Given the description of an element on the screen output the (x, y) to click on. 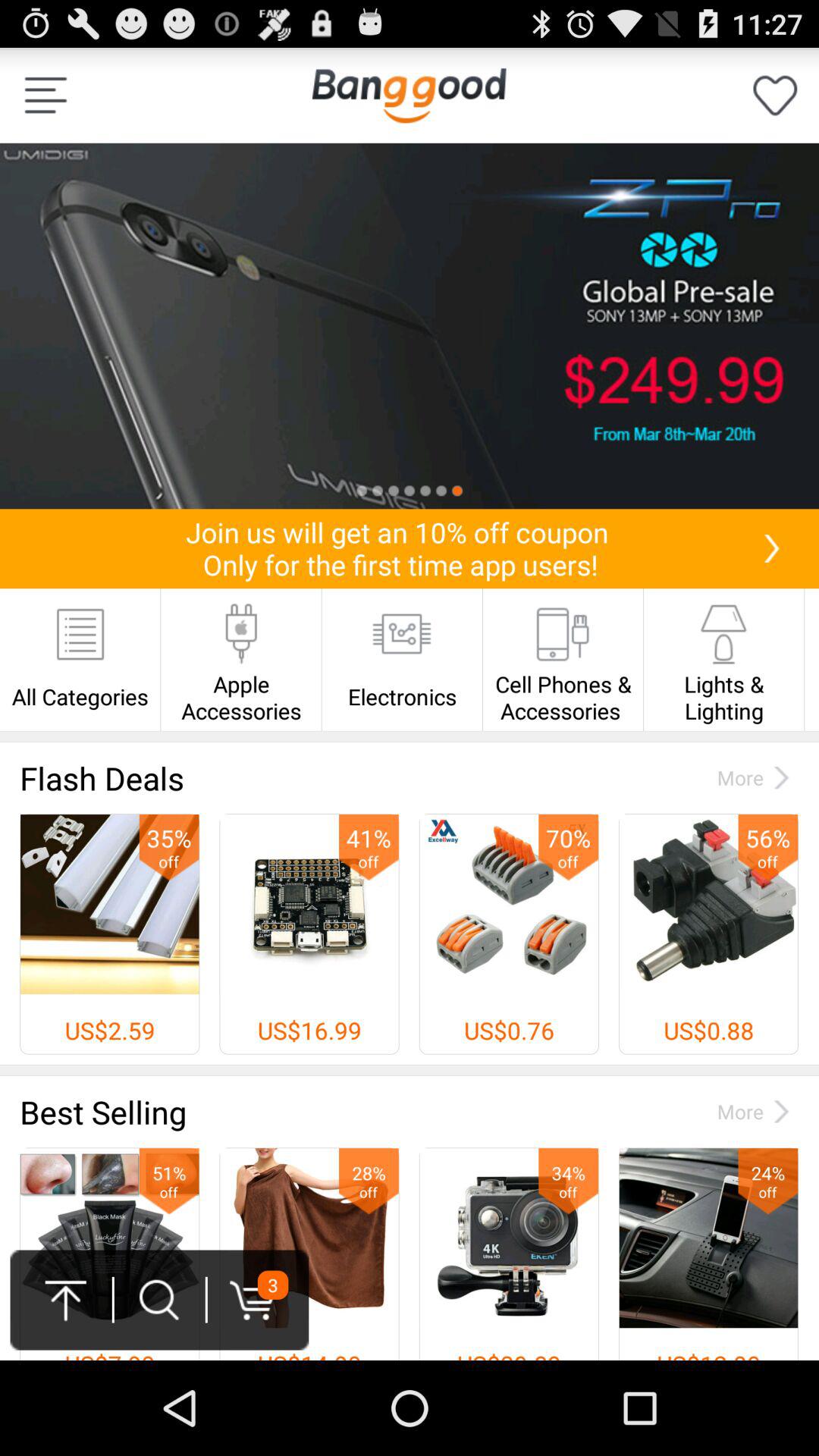
add as favorite (775, 95)
